Given the description of an element on the screen output the (x, y) to click on. 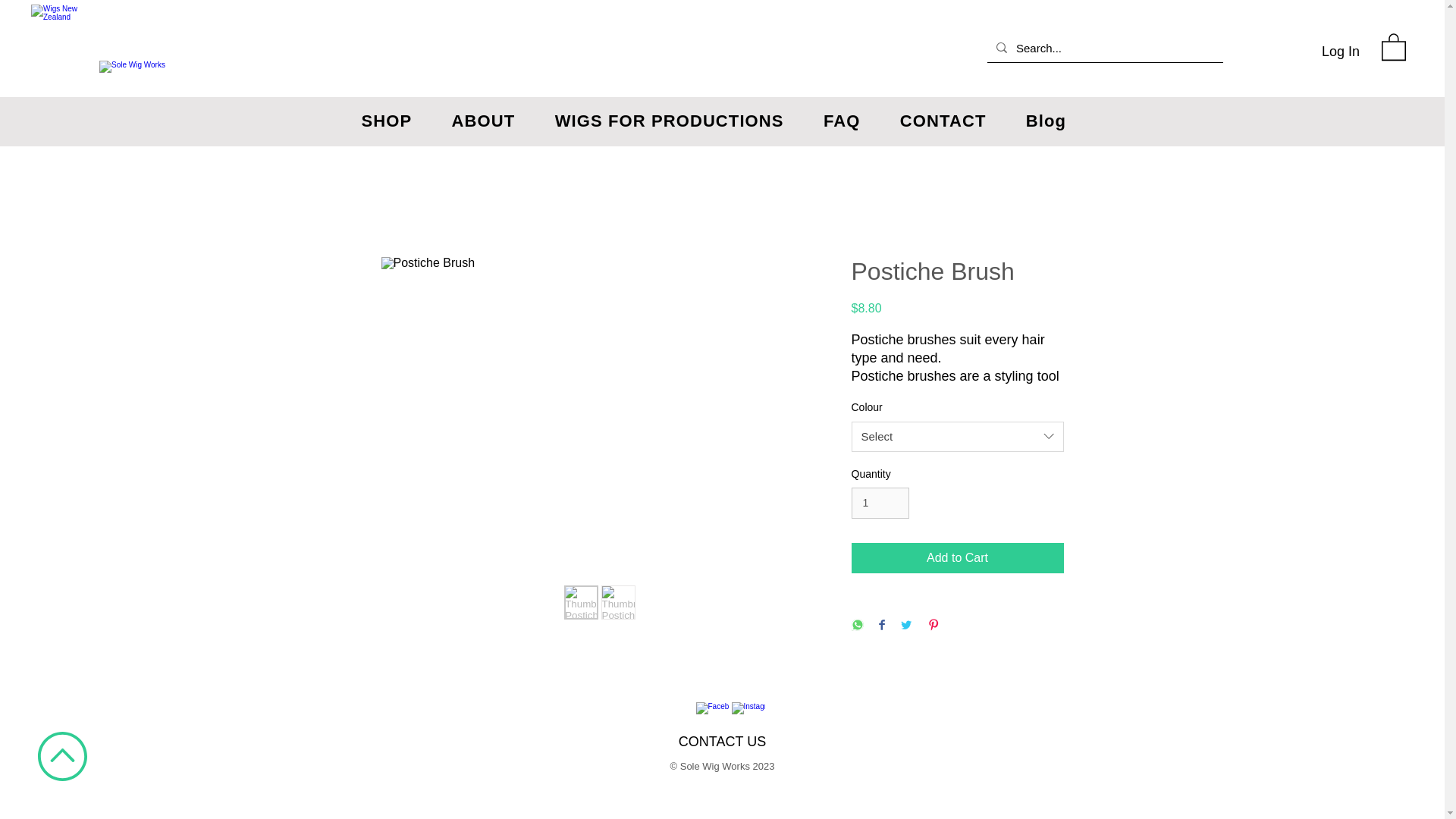
Log In (1340, 51)
Add to Cart (956, 557)
ABOUT (491, 121)
CONTACT US (721, 741)
Blog (1053, 121)
Select (956, 436)
CONTACT (950, 121)
FAQ (849, 121)
WIGS FOR PRODUCTIONS (676, 121)
1 (879, 502)
